Given the description of an element on the screen output the (x, y) to click on. 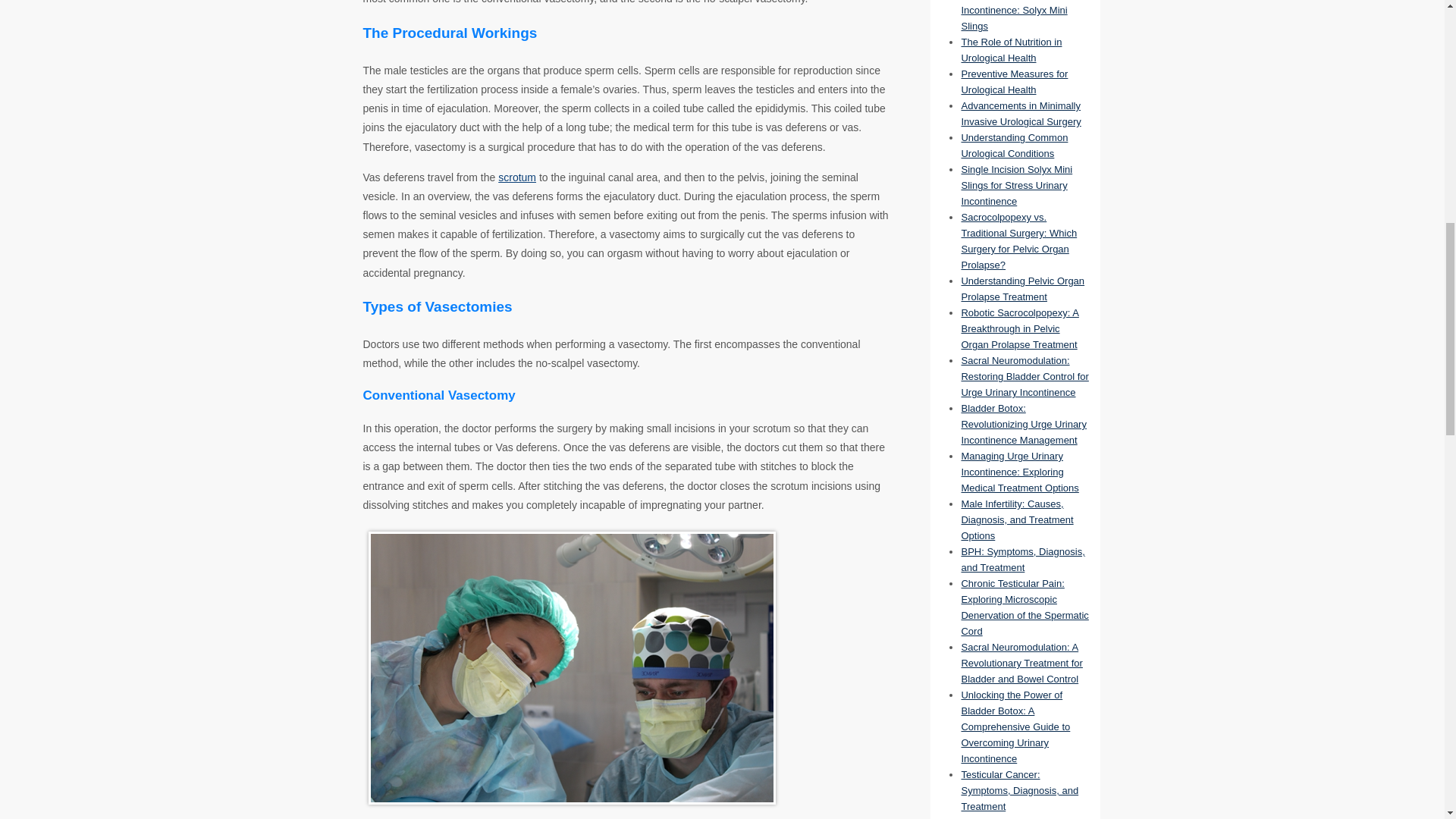
Understanding Common Urological Conditions (1013, 144)
scrotum (516, 177)
Advancements in Minimally Invasive Urological Surgery (1020, 113)
BPH: Symptoms, Diagnosis, and Treatment (1022, 559)
Male Infertility: Causes, Diagnosis, and Treatment Options (1016, 519)
Understanding Pelvic Organ Prolapse Treatment (1022, 288)
